Given the description of an element on the screen output the (x, y) to click on. 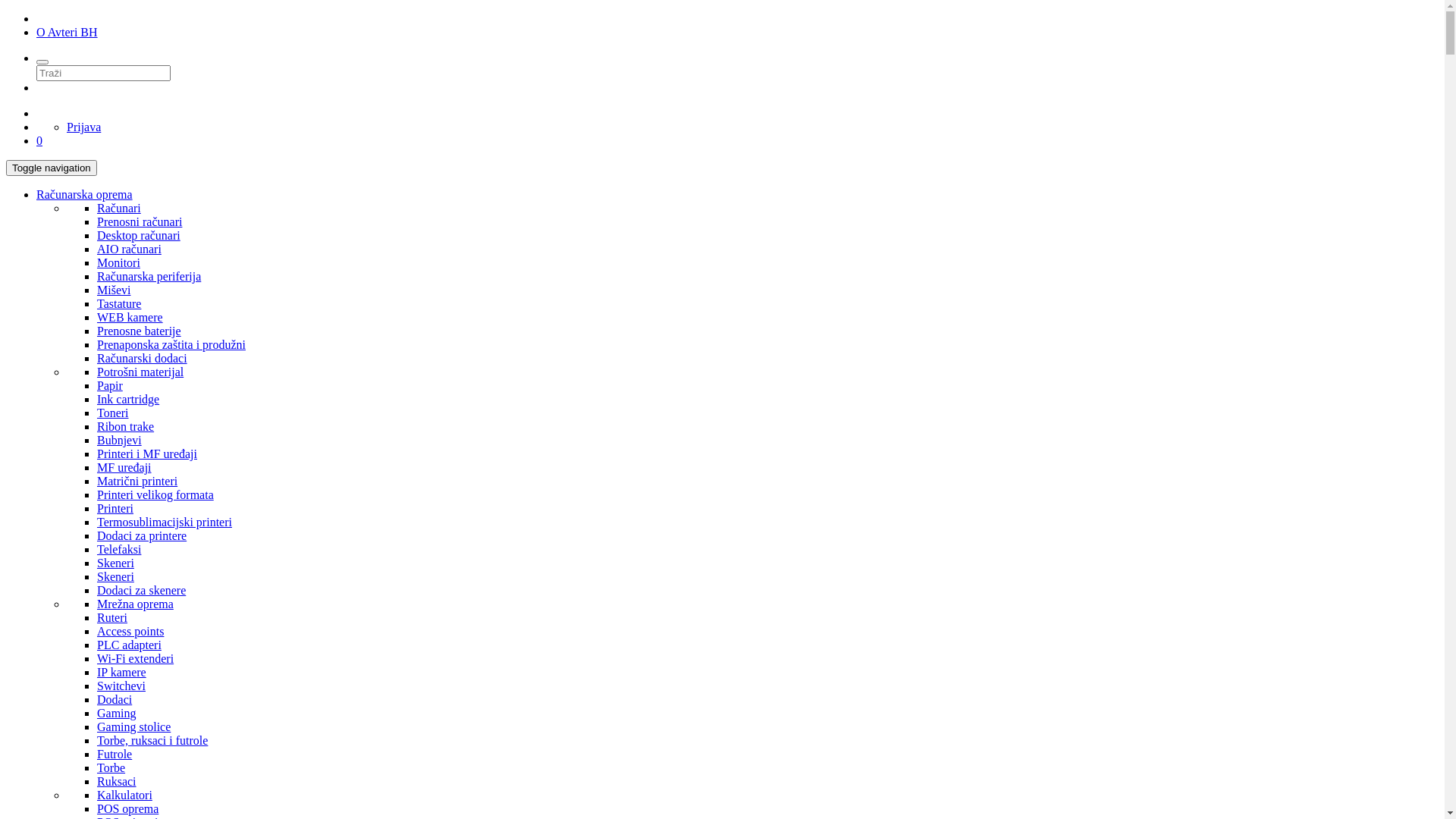
list Element type: text (4, 4)
Toneri Element type: text (112, 412)
PLC adapteri Element type: text (129, 644)
Kalkulatori Element type: text (124, 794)
Gaming Element type: text (116, 712)
Wi-Fi extenderi Element type: text (135, 658)
Torbe Element type: text (111, 767)
Toggle navigation Element type: text (51, 167)
Skeneri Element type: text (115, 562)
Access points Element type: text (130, 630)
Tastature Element type: text (119, 303)
Ink cartridge Element type: text (128, 398)
Ruksaci Element type: text (116, 781)
Printeri Element type: text (115, 508)
Dodaci za skenere Element type: text (141, 589)
Printeri velikog formata Element type: text (155, 494)
Termosublimacijski printeri Element type: text (164, 521)
IP kamere Element type: text (121, 671)
Prenosne baterije Element type: text (139, 330)
Papir Element type: text (109, 385)
Monitori Element type: text (118, 262)
Bubnjevi Element type: text (119, 439)
Torbe, ruksaci i futrole Element type: text (152, 740)
Telefaksi Element type: text (119, 548)
Skeneri Element type: text (115, 576)
WEB kamere Element type: text (130, 316)
Dodaci Element type: text (114, 699)
Ruteri Element type: text (112, 617)
Switchevi Element type: text (121, 685)
Ribon trake Element type: text (125, 426)
0 Element type: text (39, 140)
Prijava Element type: text (83, 126)
Dodaci za printere Element type: text (141, 535)
POS oprema Element type: text (127, 808)
O Avteri BH Element type: text (66, 31)
Futrole Element type: text (114, 753)
Gaming stolice Element type: text (133, 726)
